Given the description of an element on the screen output the (x, y) to click on. 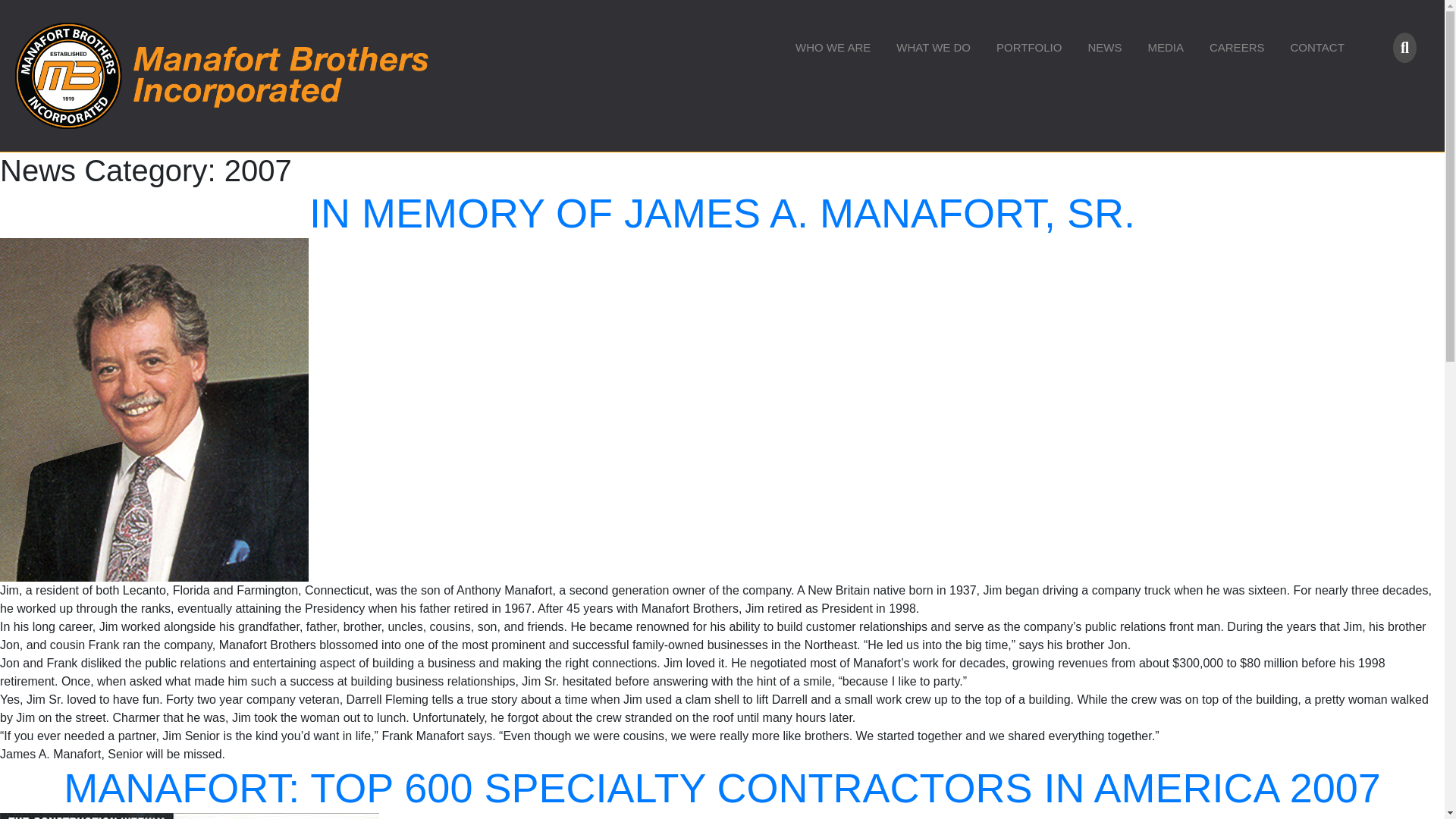
WHAT WE DO (933, 47)
IN MEMORY OF JAMES A. MANAFORT, SR. (721, 212)
NEWS (1104, 47)
MANAFORT: TOP 600 SPECIALTY CONTRACTORS IN AMERICA 2007 (722, 787)
WHO WE ARE (833, 47)
MEDIA (1165, 47)
PORTFOLIO (1029, 47)
CAREERS (1237, 47)
CONTACT (1316, 47)
